Given the description of an element on the screen output the (x, y) to click on. 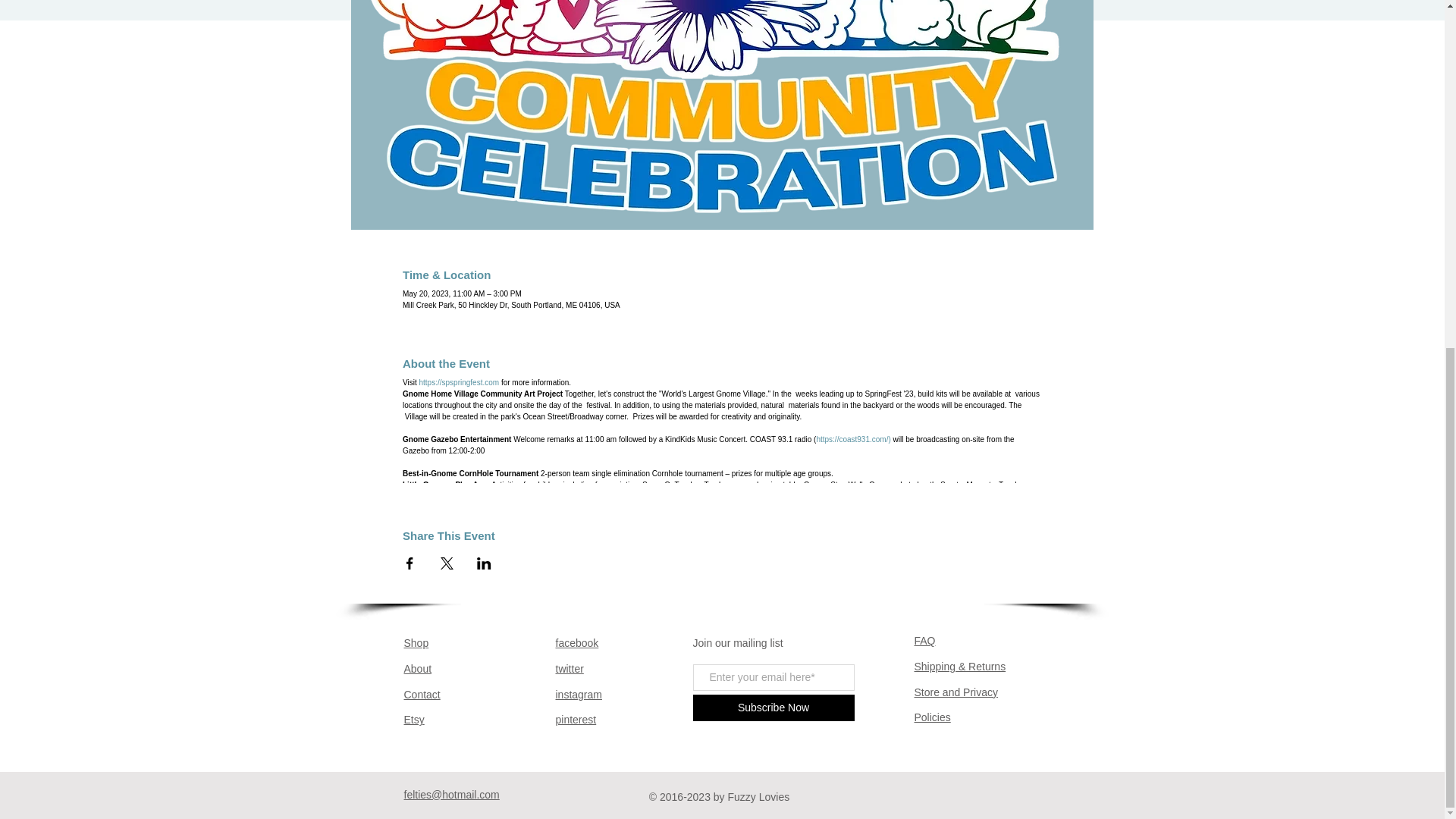
Shop (415, 643)
Subscribe Now (773, 707)
About (416, 668)
instagram (577, 694)
pinterest (574, 719)
Join our mailing list (738, 643)
twitter (568, 668)
FAQ (925, 640)
Contact (421, 694)
Etsy (413, 719)
facebook (576, 643)
